Given the description of an element on the screen output the (x, y) to click on. 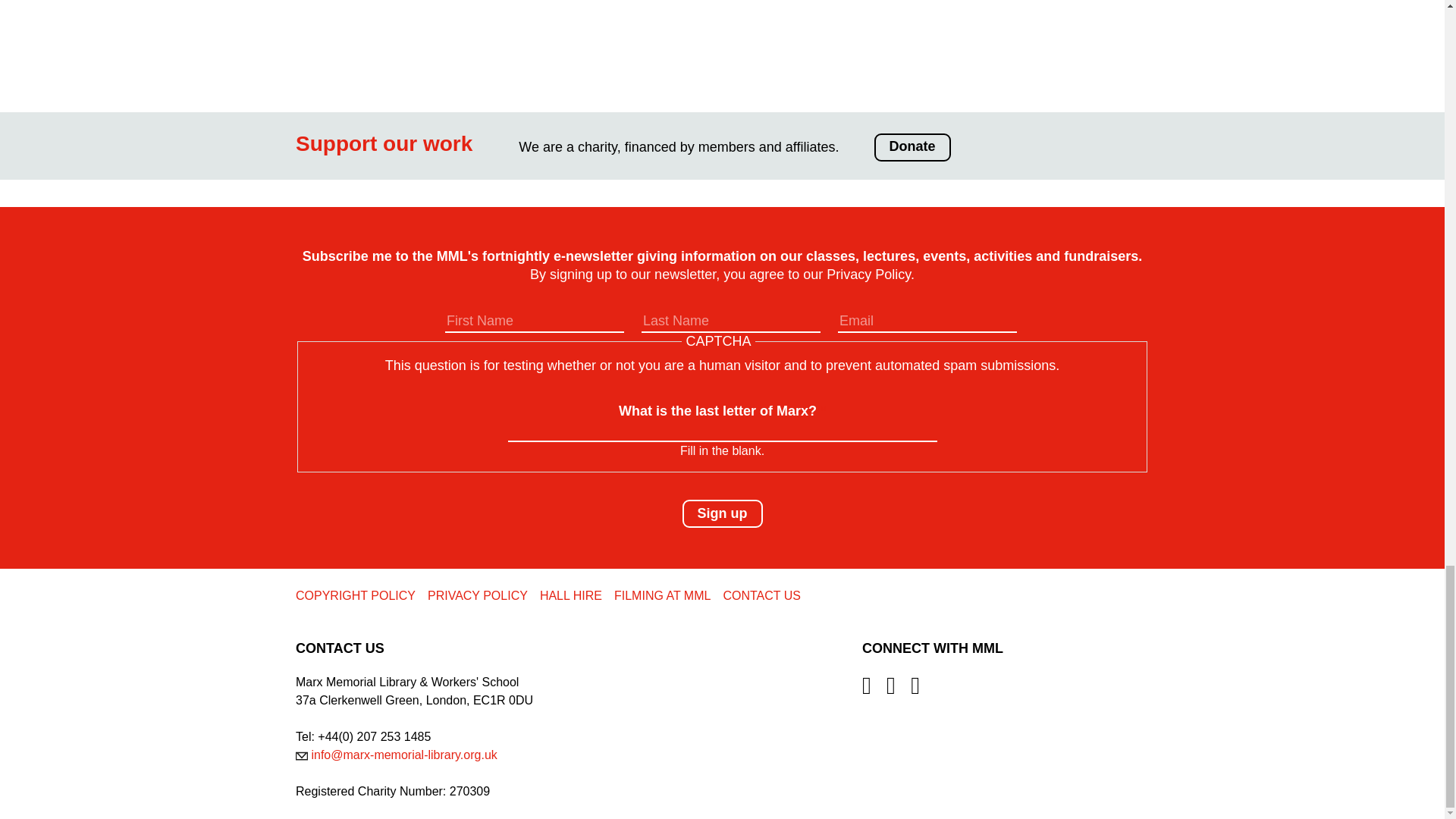
Privacy Policy (869, 273)
Sign up (722, 513)
PRIVACY POLICY (477, 594)
Donate (912, 147)
Sign up (722, 513)
COPYRIGHT POLICY (354, 594)
